Given the description of an element on the screen output the (x, y) to click on. 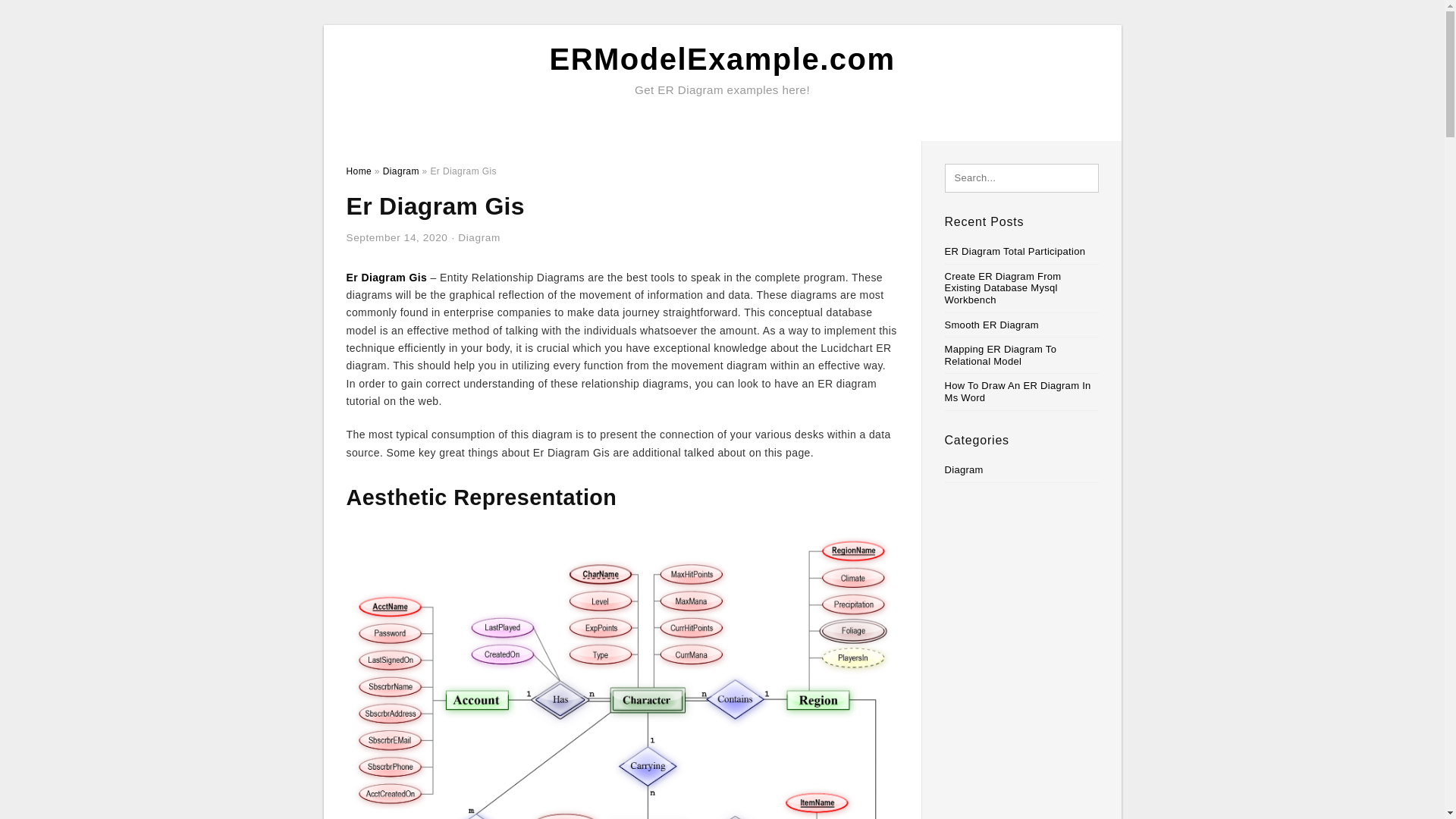
ER Diagram Total Participation (1015, 251)
Er Diagram Gis (386, 277)
ERModelExample.com (721, 59)
Search (43, 15)
Diagram (479, 237)
Home (358, 171)
Smooth ER Diagram (991, 324)
Mapping ER Diagram To Relational Model (1000, 354)
How To Draw An ER Diagram In Ms Word (1017, 391)
Diagram (400, 171)
Create ER Diagram From Existing Database Mysql Workbench (1002, 288)
